Given the description of an element on the screen output the (x, y) to click on. 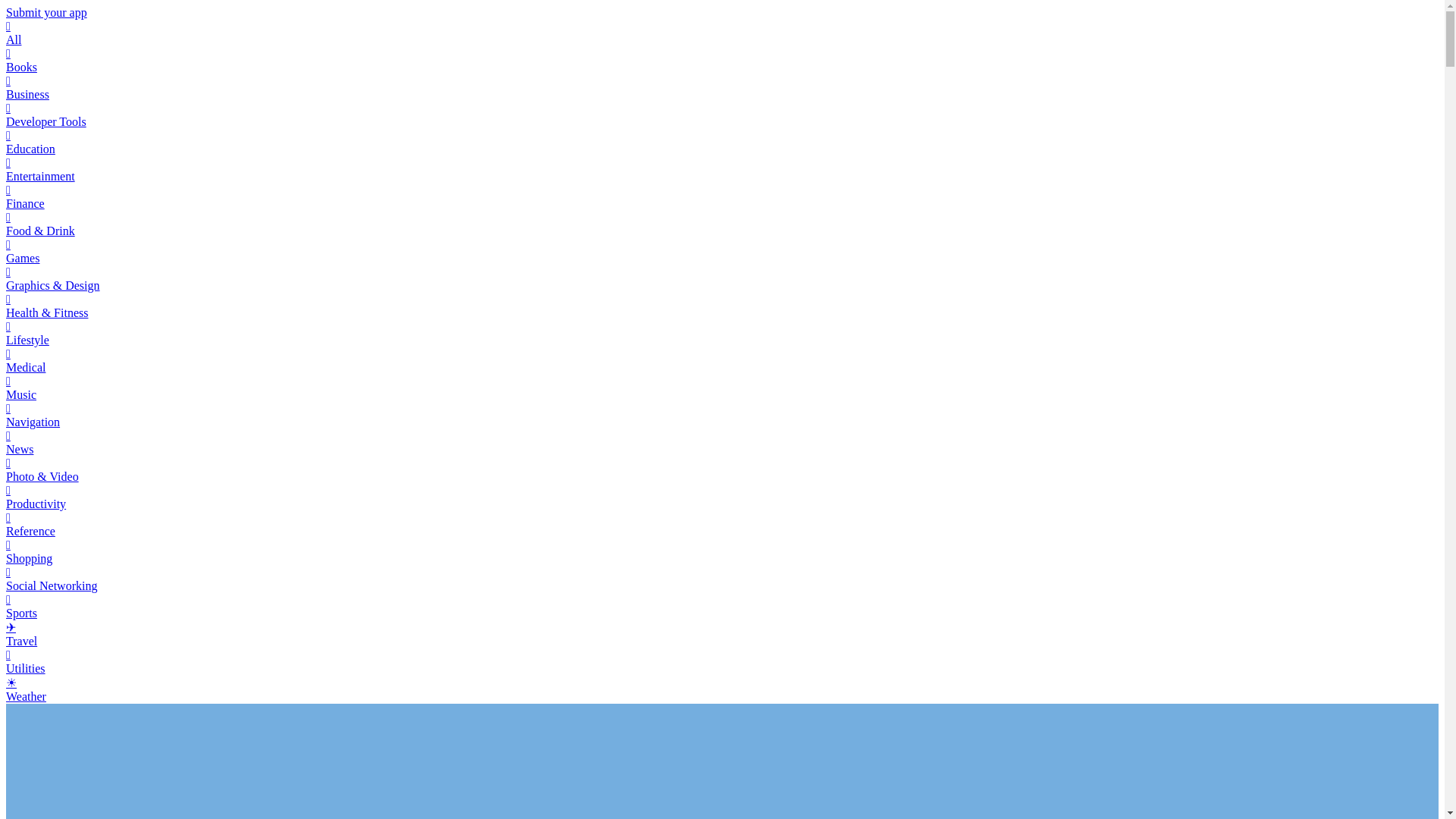
Submit your app (46, 11)
